Given the description of an element on the screen output the (x, y) to click on. 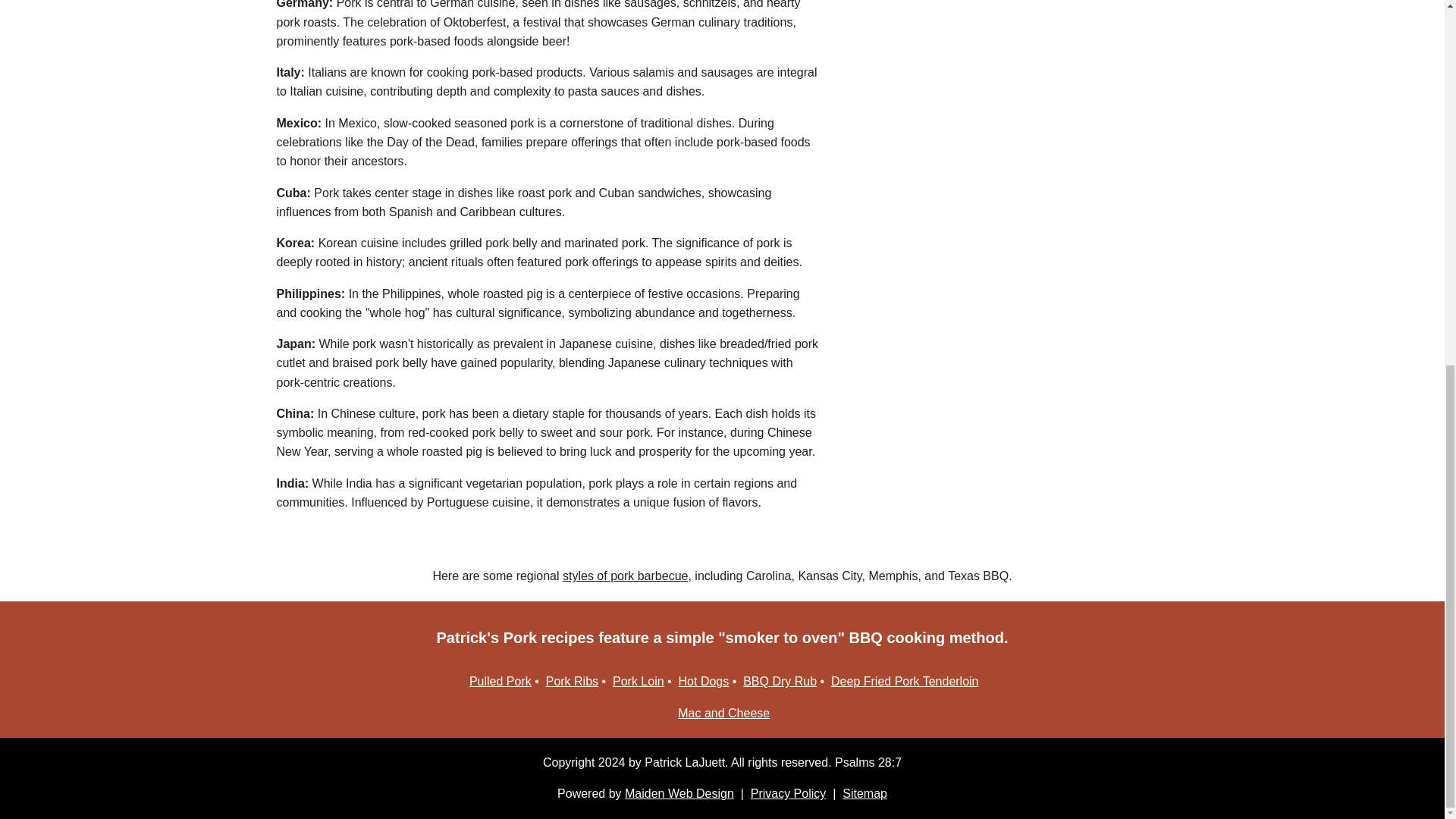
Pulled Pork (499, 680)
BBQ Dry Rub (779, 680)
Privacy Policy (789, 793)
Maiden Web Design (678, 793)
Mac and Cheese (724, 712)
styles of pork barbecue (624, 575)
Hot Dogs (703, 680)
Pork Loin (637, 680)
Pork Ribs (572, 680)
Deep Fried Pork Tenderloin (904, 680)
Sitemap (864, 793)
